Given the description of an element on the screen output the (x, y) to click on. 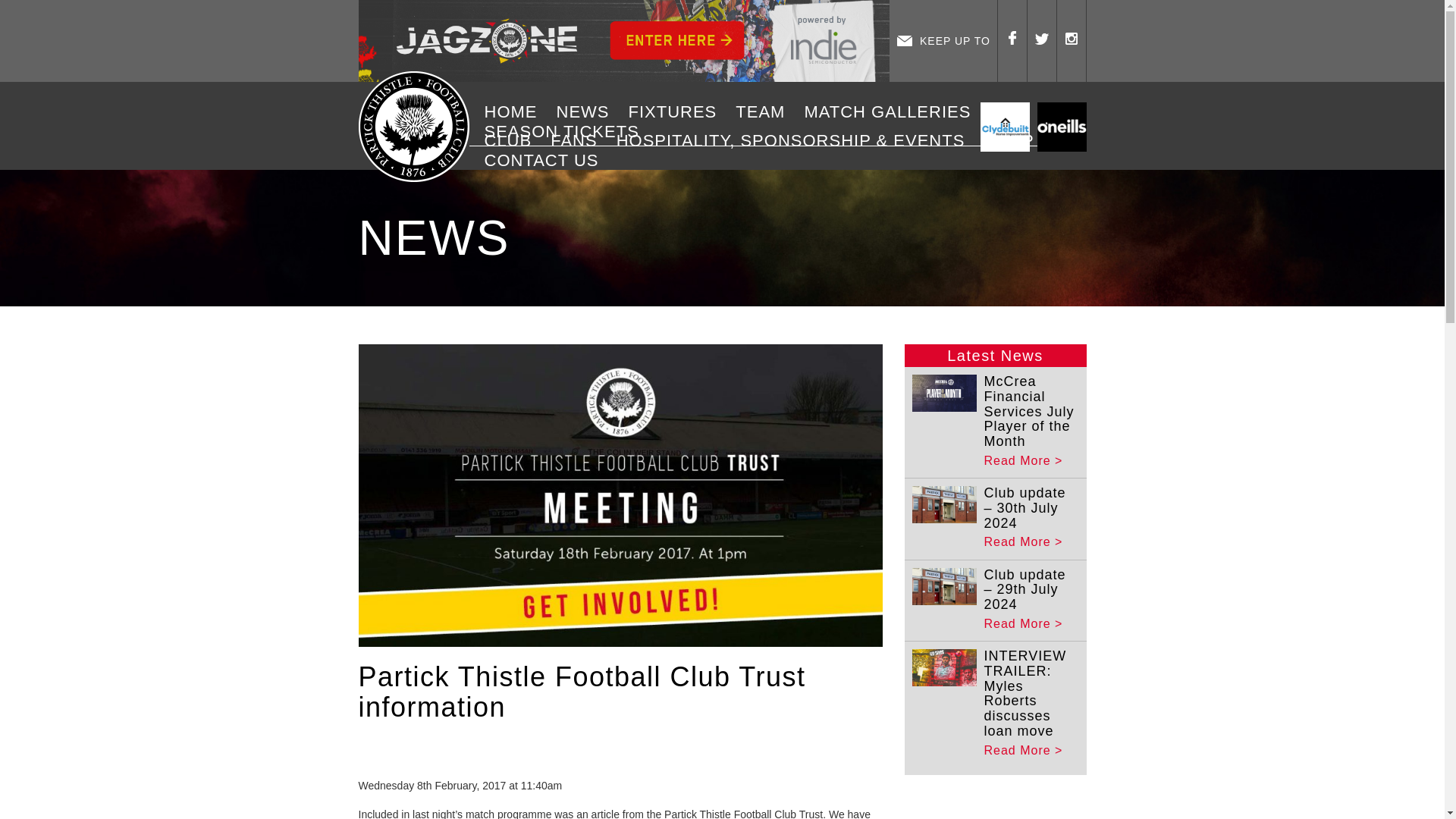
FANS (579, 140)
NEWS (587, 112)
CLUB (513, 140)
SHOP (1013, 140)
TEAM (765, 112)
FIXTURES (678, 112)
MATCH GALLERIES (892, 112)
Enter the JAGZONE (623, 40)
HOME (516, 112)
CONTACT US (547, 160)
McCrea Financial Services July Player of the Month (1029, 410)
KEEP UP TO DATE (943, 40)
SEASON TICKETS (566, 131)
